Given the description of an element on the screen output the (x, y) to click on. 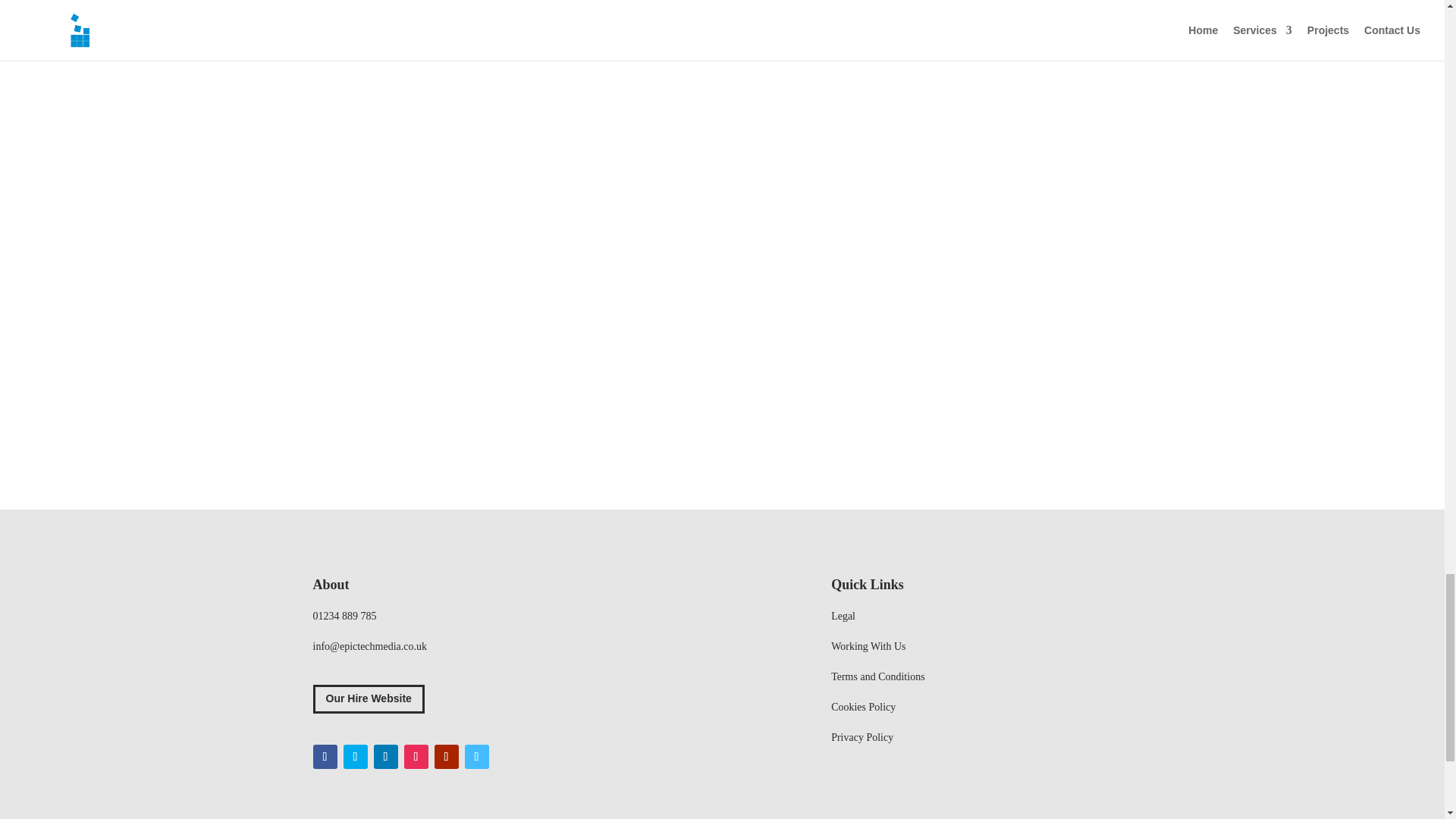
Privacy Policy (862, 737)
Follow on Twitter (354, 756)
Follow on LinkedIn (384, 756)
Terms and Conditions (877, 676)
01234 889 785 (344, 615)
Follow on Vimeo (475, 756)
Legal (843, 615)
Our Hire Website (368, 698)
Working With Us (868, 645)
Cookies Policy (863, 706)
Follow on Facebook (324, 756)
Follow on Instagram (415, 756)
Follow on Youtube (445, 756)
